Given the description of an element on the screen output the (x, y) to click on. 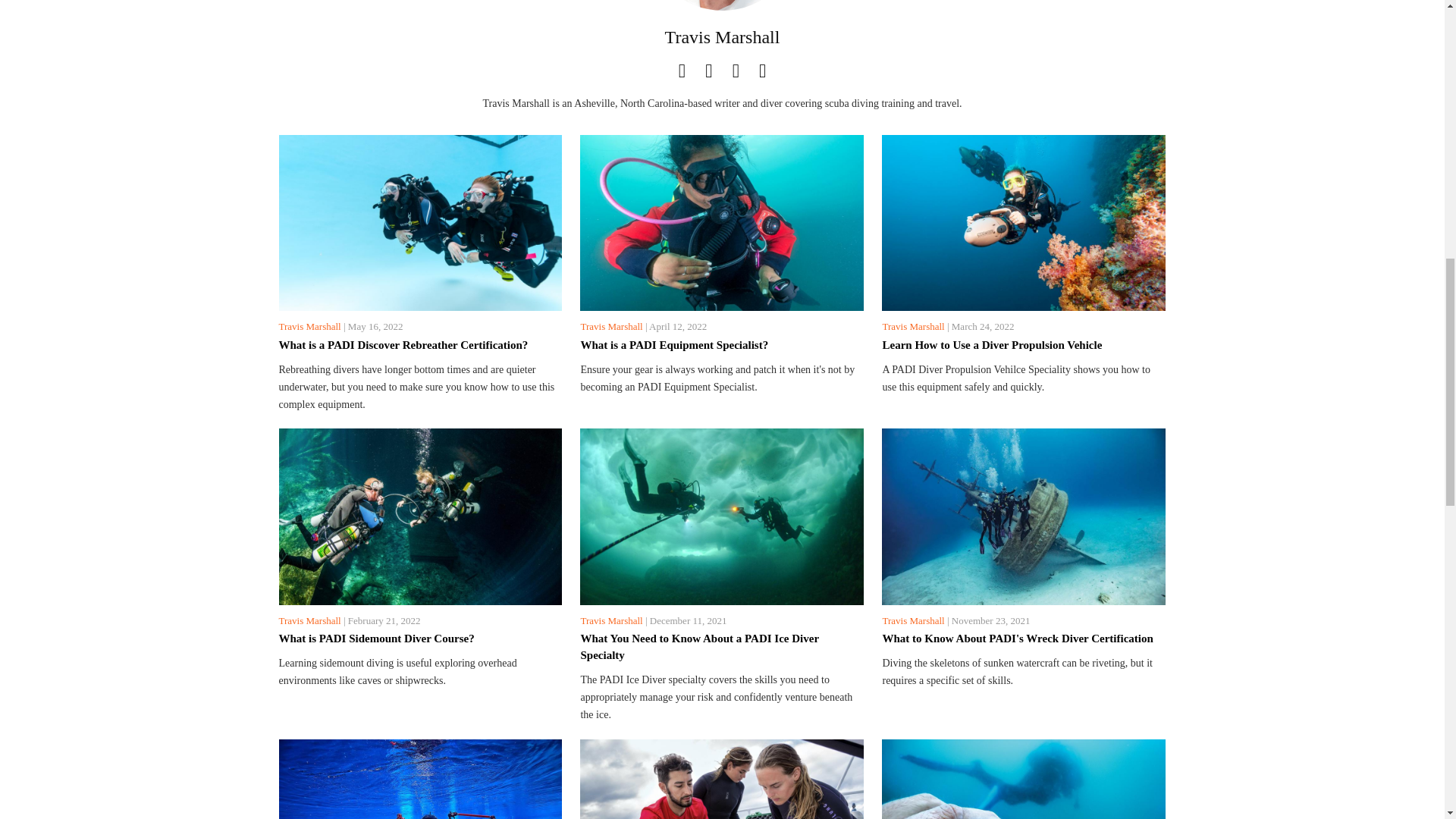
Travis Marshall (309, 620)
What is a PADI Equipment Specialist? (721, 344)
Travis Marshall (912, 326)
Travis Marshall (309, 326)
Travis Marshall (610, 326)
Learn How to Use a Diver Propulsion Vehicle (1024, 344)
Travis Marshall (610, 620)
What is PADI Sidemount Diver Course? (420, 638)
Travis Marshall (722, 36)
What You Need to Know About a PADI Ice Diver Specialty (721, 646)
What is a PADI Discover Rebreather Certification? (420, 344)
